Given the description of an element on the screen output the (x, y) to click on. 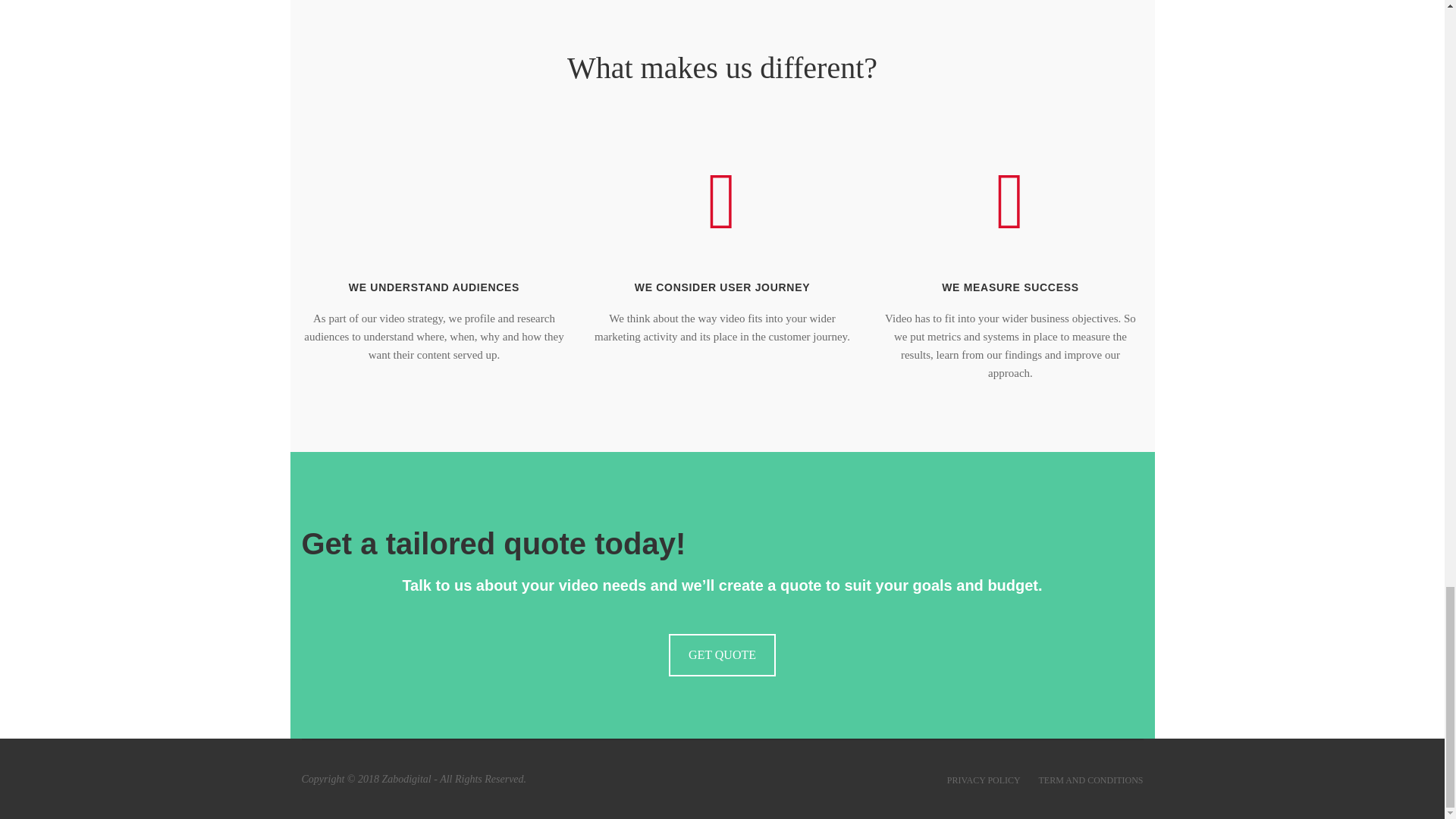
GET QUOTE (722, 654)
PRIVACY POLICY (983, 779)
TERM AND CONDITIONS (1090, 779)
